Given the description of an element on the screen output the (x, y) to click on. 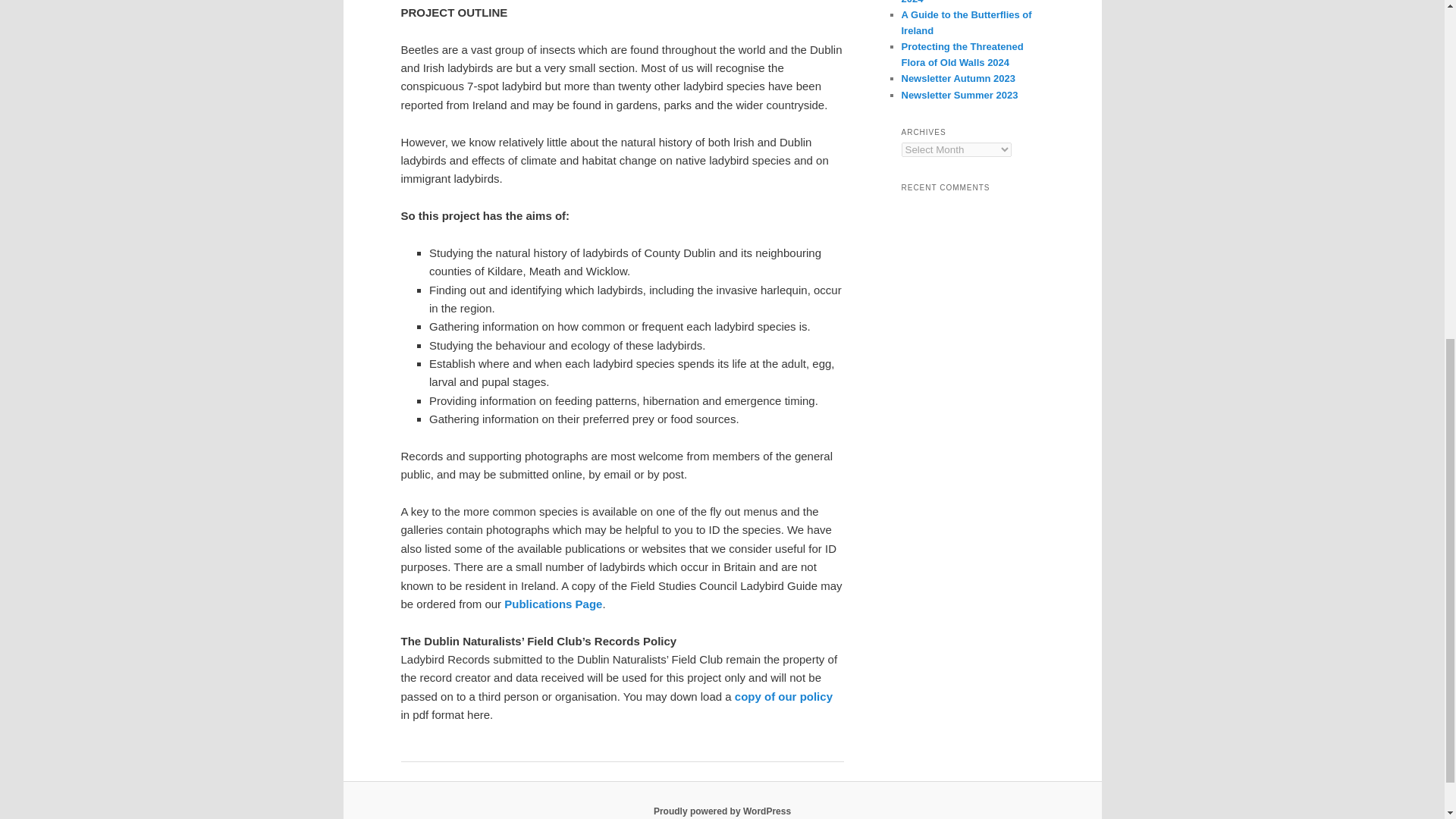
Proudly powered by WordPress (721, 810)
Protecting the Threatened Flora of Old Walls 2024 (962, 53)
Hon. Secretary Report 2023-2024 (966, 2)
Publications Page (552, 603)
Newsletter Summer 2023 (959, 94)
Newsletter Autumn 2023 (957, 78)
copy of our policy (783, 696)
Semantic Personal Publishing Platform (721, 810)
A Guide to the Butterflies of Ireland (965, 22)
